Given the description of an element on the screen output the (x, y) to click on. 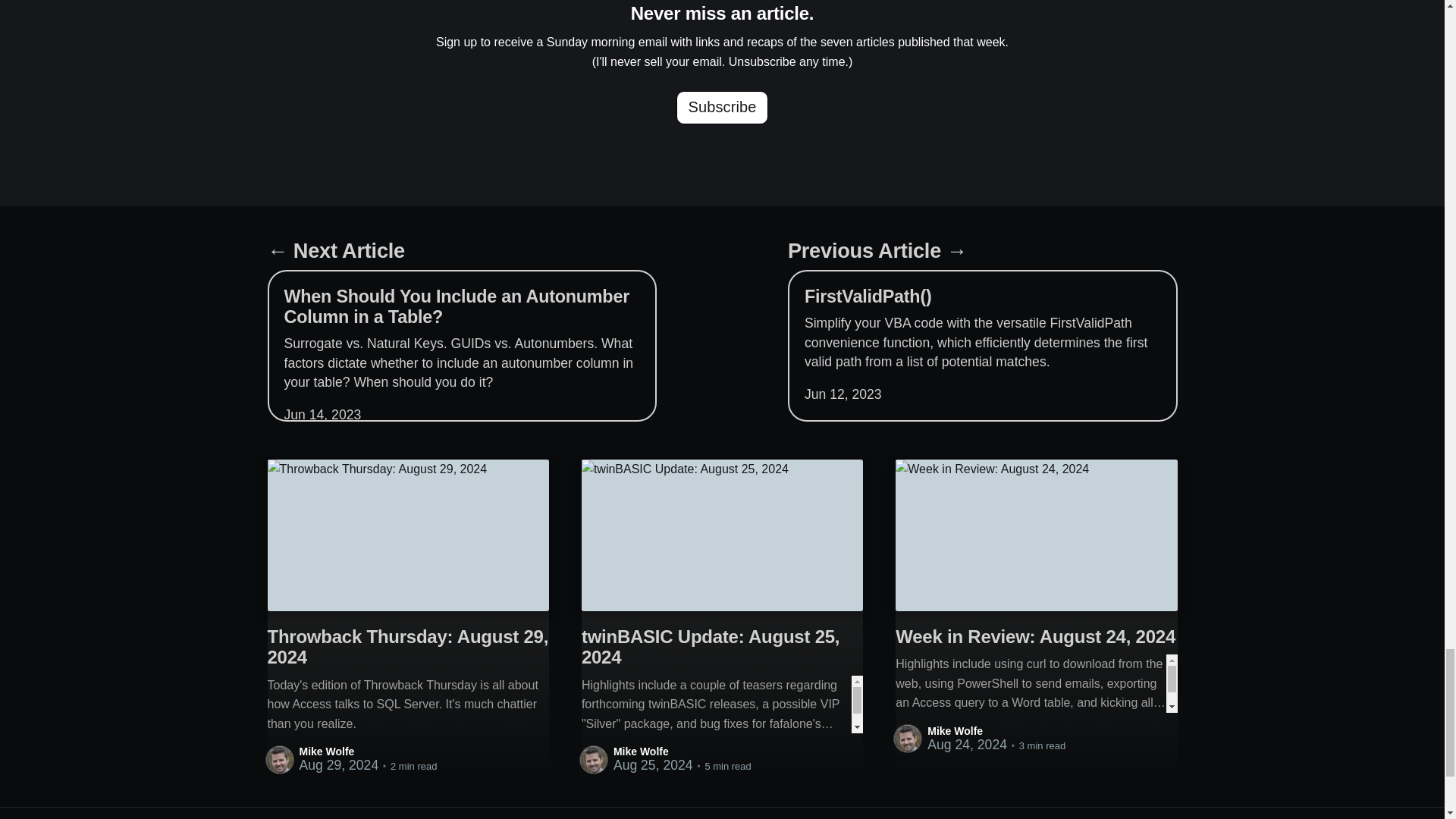
Subscribe (722, 107)
Mike Wolfe (325, 751)
